Given the description of an element on the screen output the (x, y) to click on. 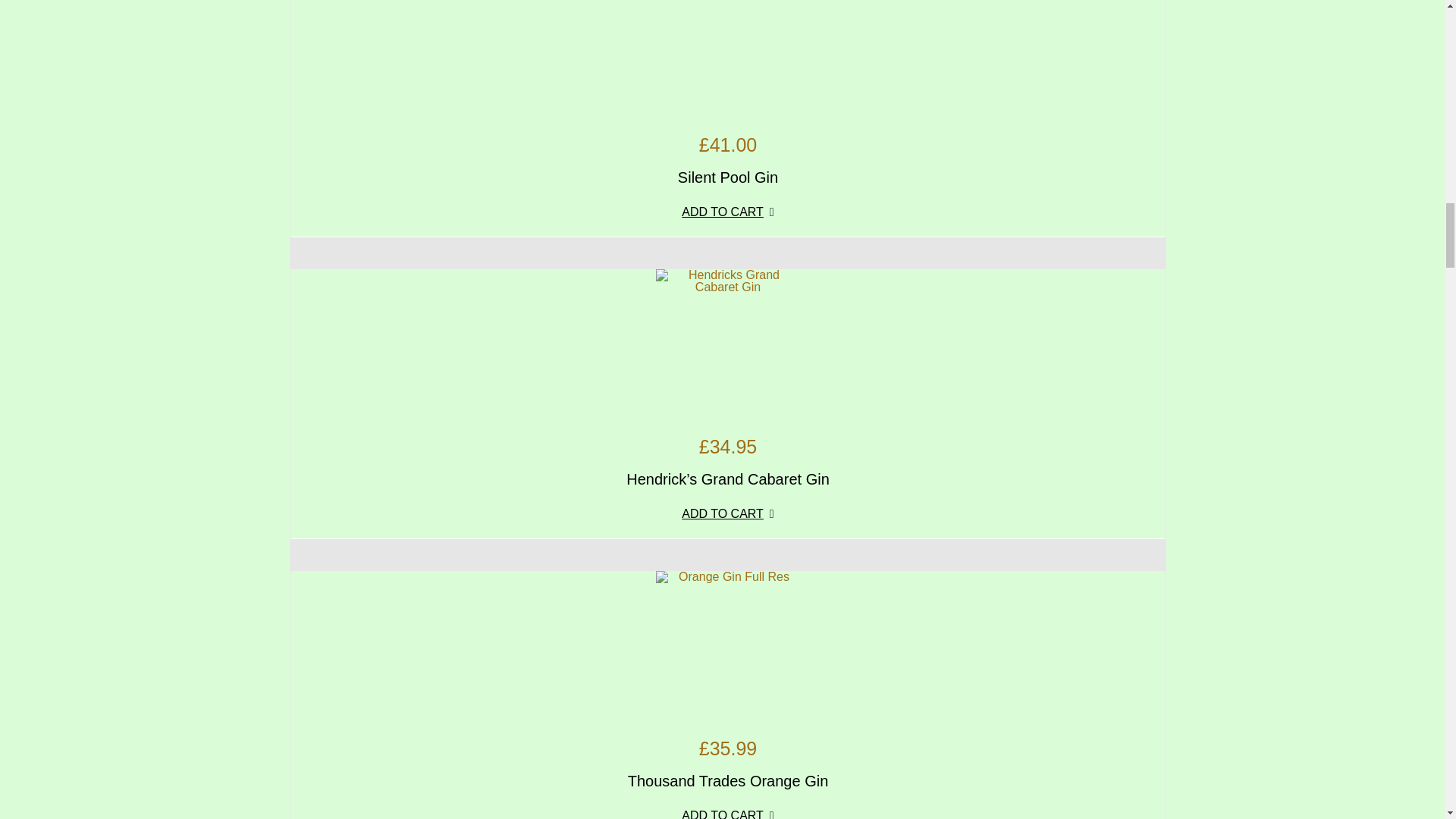
ADD TO CART (727, 811)
ADD TO CART (727, 520)
ADD TO CART (727, 217)
